Given the description of an element on the screen output the (x, y) to click on. 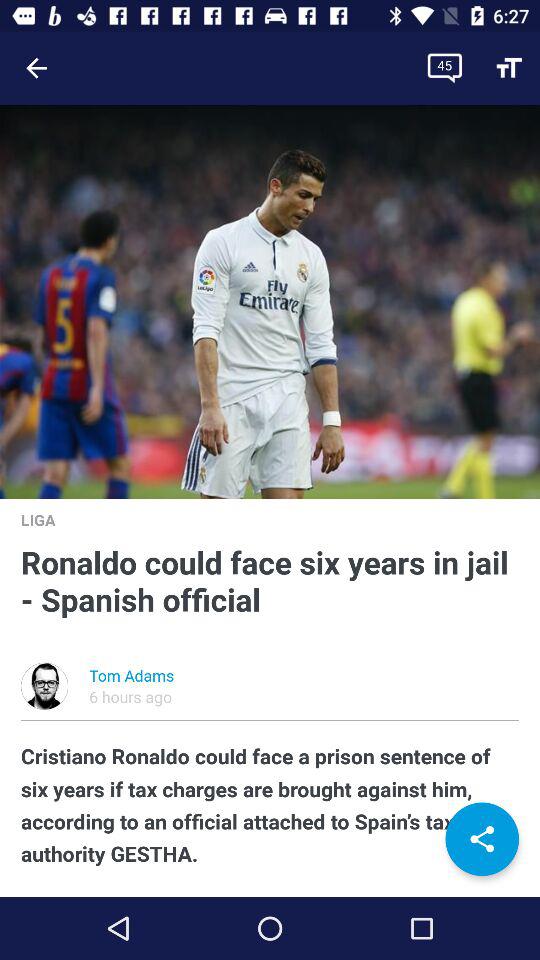
launch 45 item (443, 67)
